Given the description of an element on the screen output the (x, y) to click on. 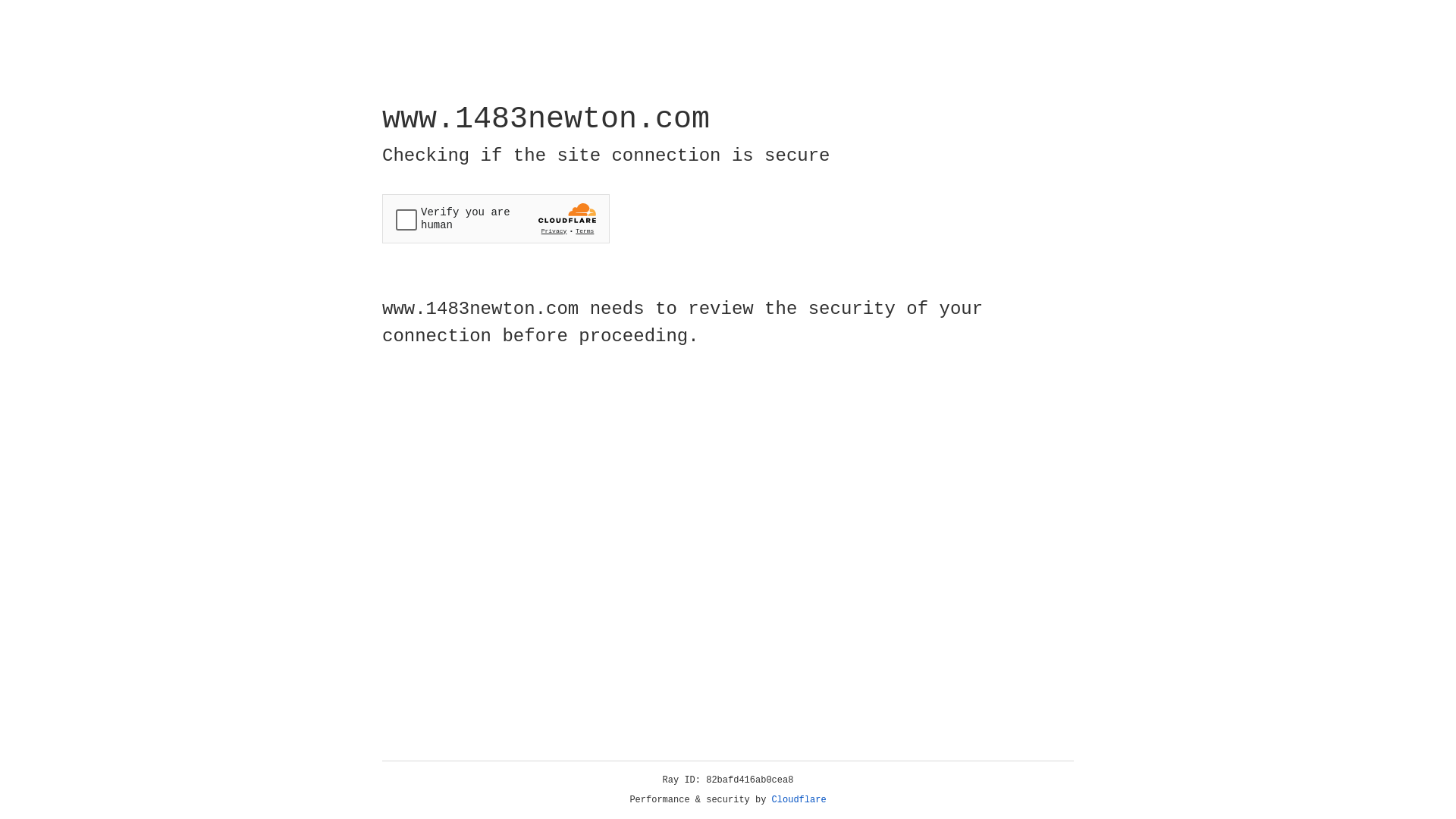
Cloudflare Element type: text (798, 799)
Widget containing a Cloudflare security challenge Element type: hover (495, 218)
